Given the description of an element on the screen output the (x, y) to click on. 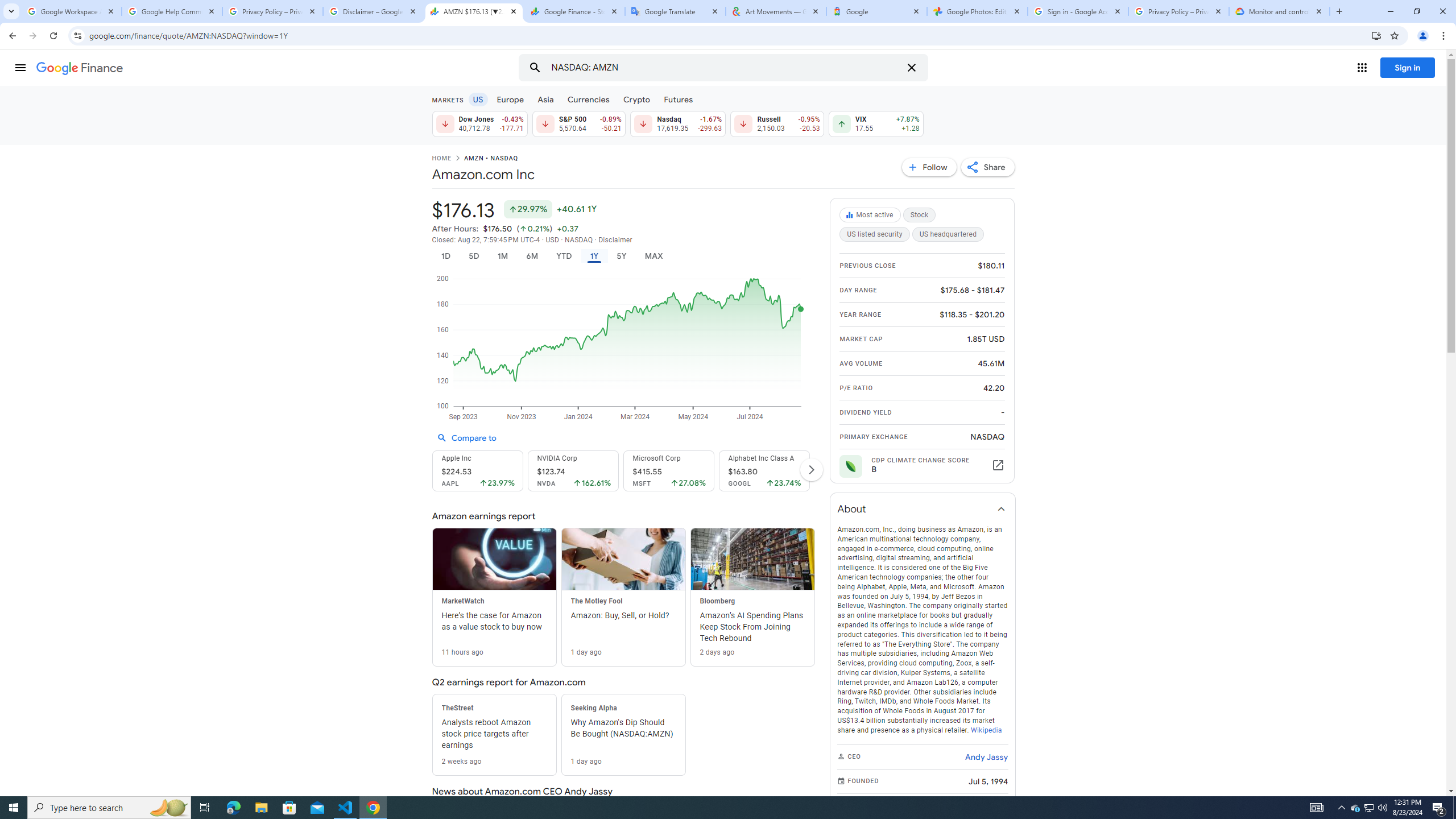
Share (987, 167)
US (477, 99)
Most active (871, 214)
Sign in - Google Accounts (1078, 11)
Futures (678, 99)
HOME (440, 158)
Disclaimer (614, 239)
